Given the description of an element on the screen output the (x, y) to click on. 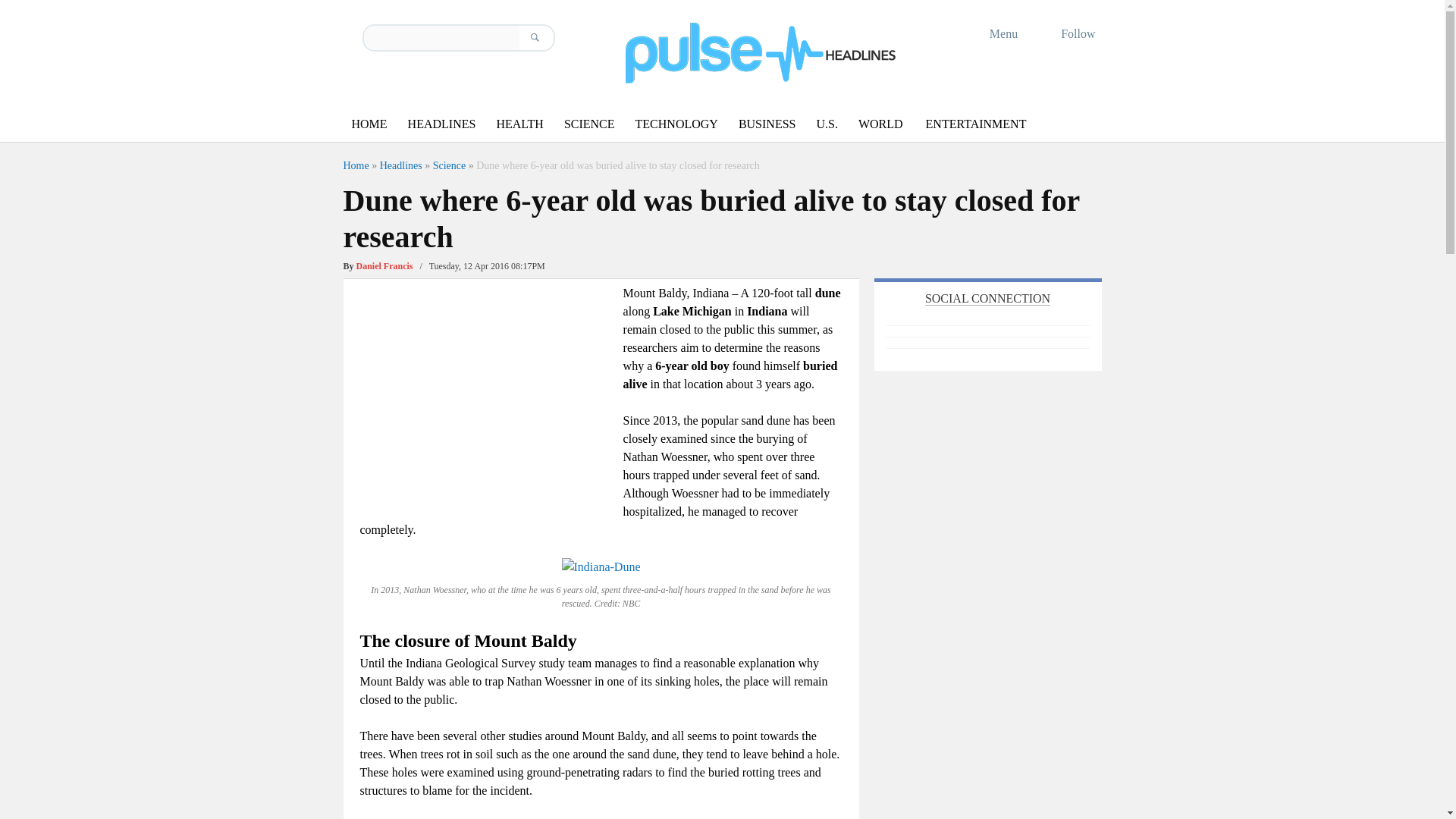
U.S. (826, 123)
ENTERTAINMENT (975, 123)
WORLD (880, 123)
Daniel Francis (384, 266)
SCIENCE (589, 123)
Menu (993, 33)
Headlines (401, 165)
HOME (368, 123)
Home (355, 165)
BUSINESS (767, 123)
